Given the description of an element on the screen output the (x, y) to click on. 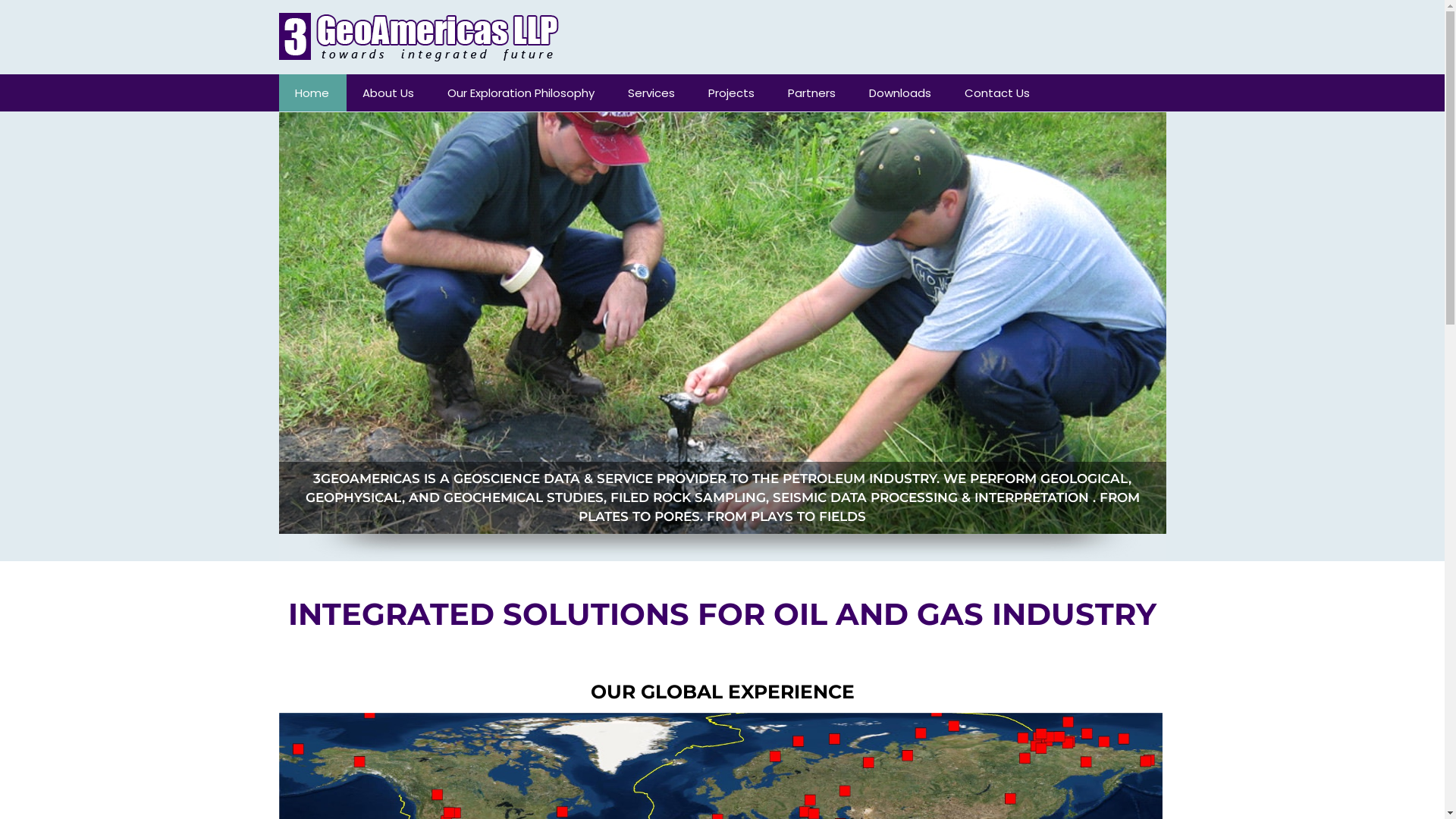
Partners Element type: text (812, 92)
Downloads Element type: text (899, 92)
Projects Element type: text (731, 92)
Contact Us Element type: text (996, 92)
Services Element type: text (651, 92)
Our Exploration Philosophy Element type: text (520, 92)
Home Element type: text (312, 92)
About Us Element type: text (387, 92)
